Given the description of an element on the screen output the (x, y) to click on. 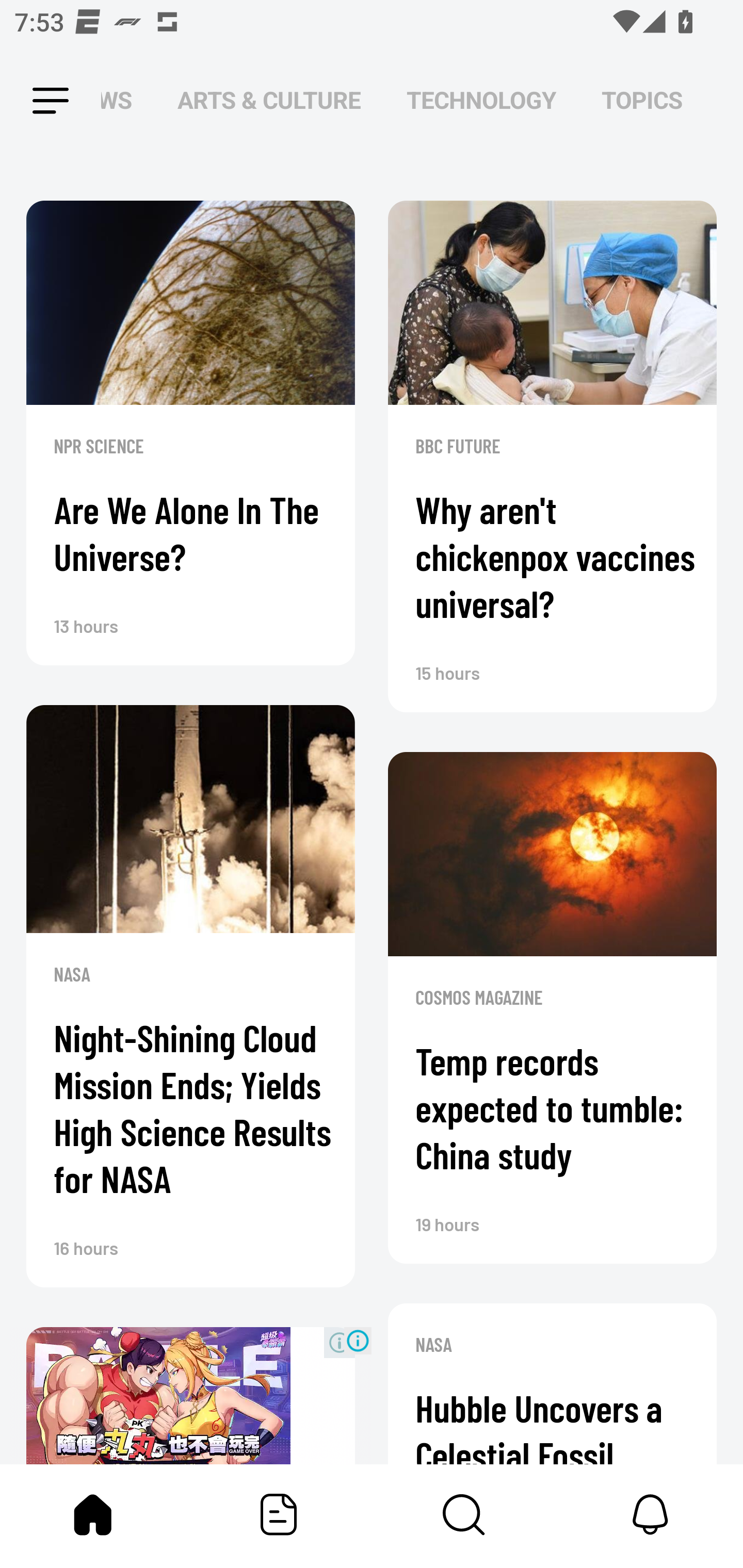
NEWS (122, 100)
ARTS & CULTURE (269, 100)
TECHNOLOGY (481, 100)
TOPICS (641, 100)
Ad Choices Icon (357, 1340)
Featured (278, 1514)
Content Store (464, 1514)
Notifications (650, 1514)
